Given the description of an element on the screen output the (x, y) to click on. 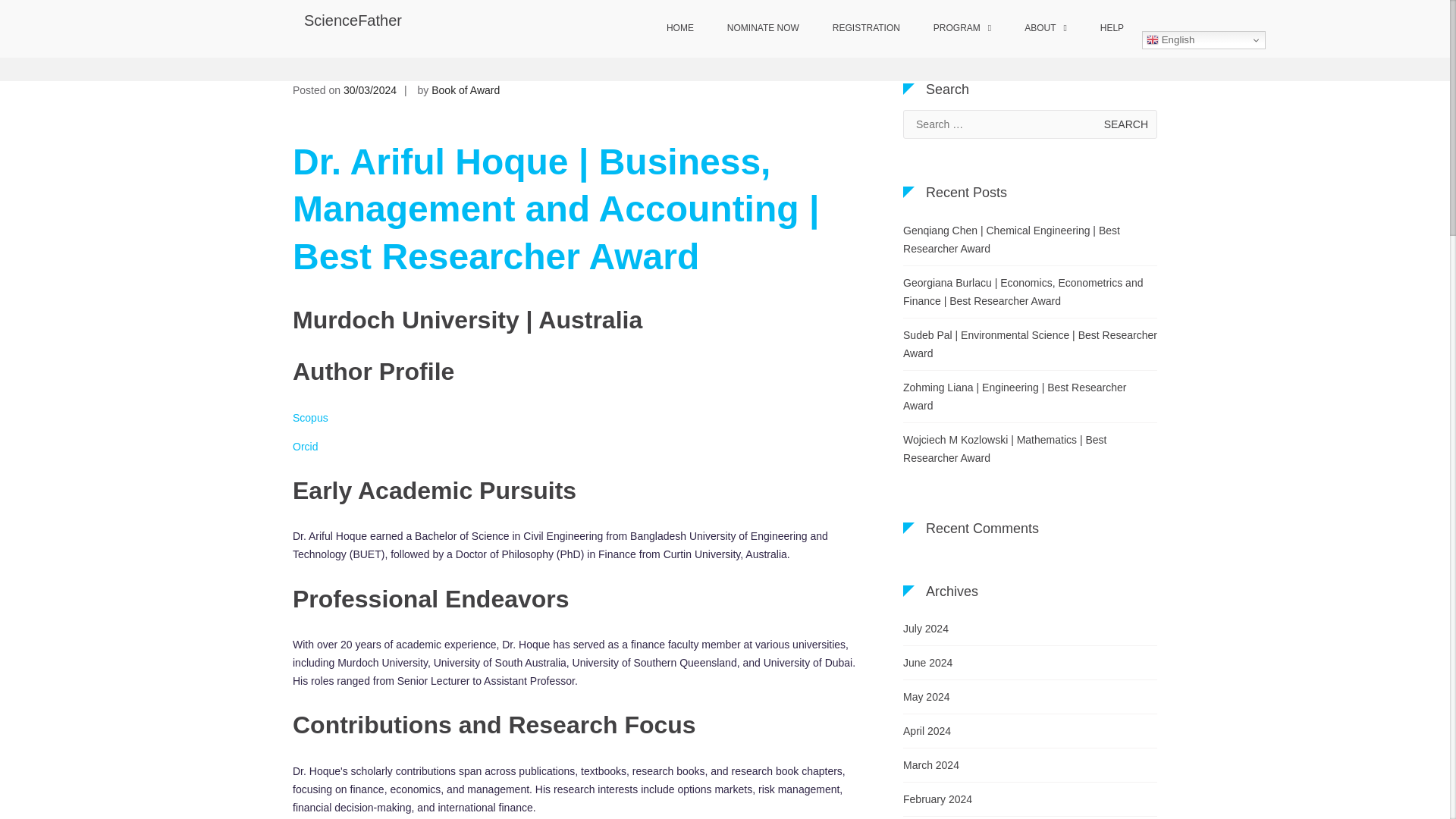
PROGRAM (962, 28)
Home (655, 51)
Book of Award (464, 90)
REGISTRATION (865, 28)
Scopus (310, 417)
NOMINATE NOW (762, 28)
Search (1125, 123)
English (1203, 40)
Search (1125, 123)
Home (655, 51)
